Given the description of an element on the screen output the (x, y) to click on. 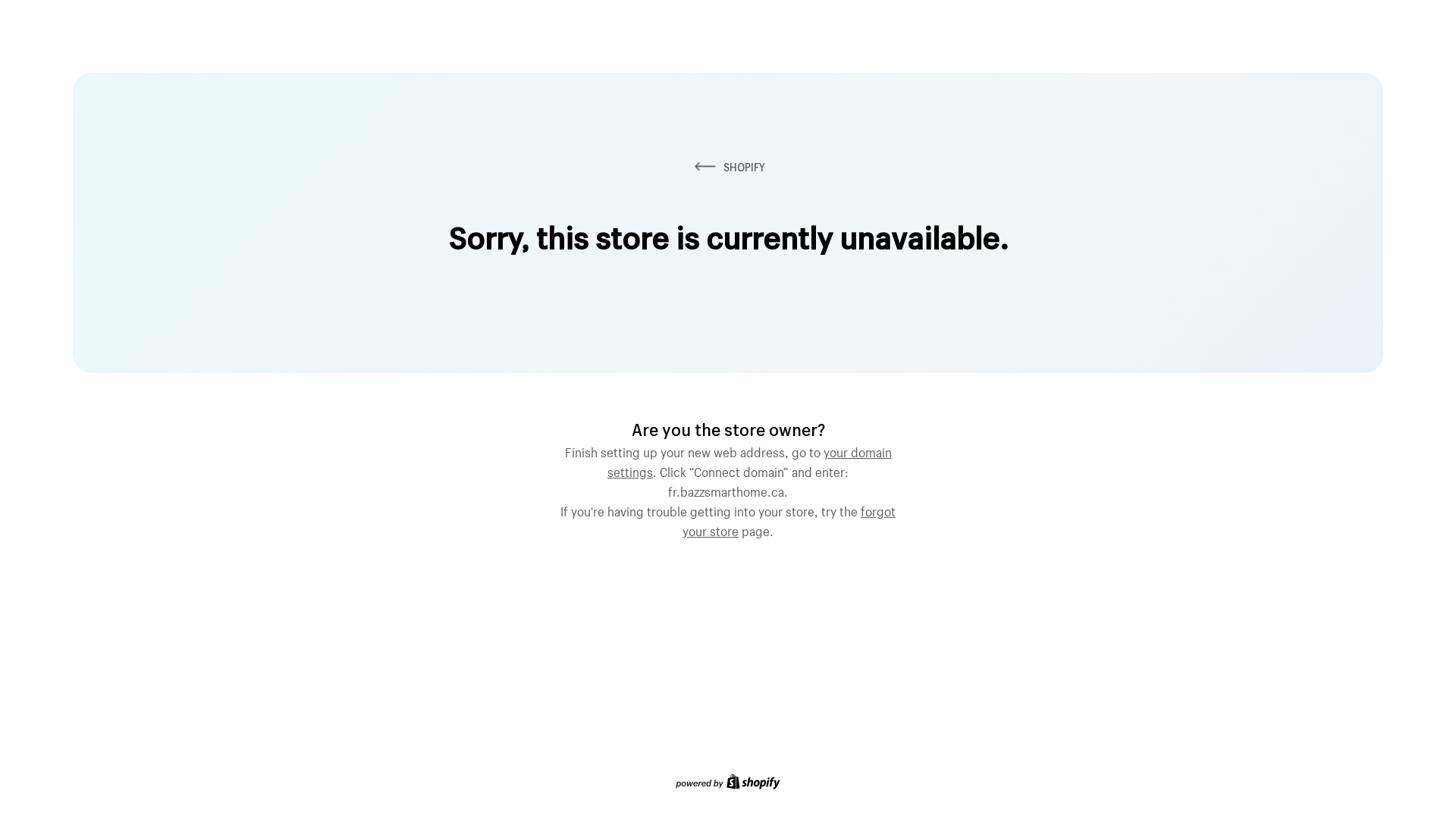
your domain settings Element type: text (749, 460)
SHOPIFY Element type: text (727, 167)
forgot your store Element type: text (788, 519)
